Given the description of an element on the screen output the (x, y) to click on. 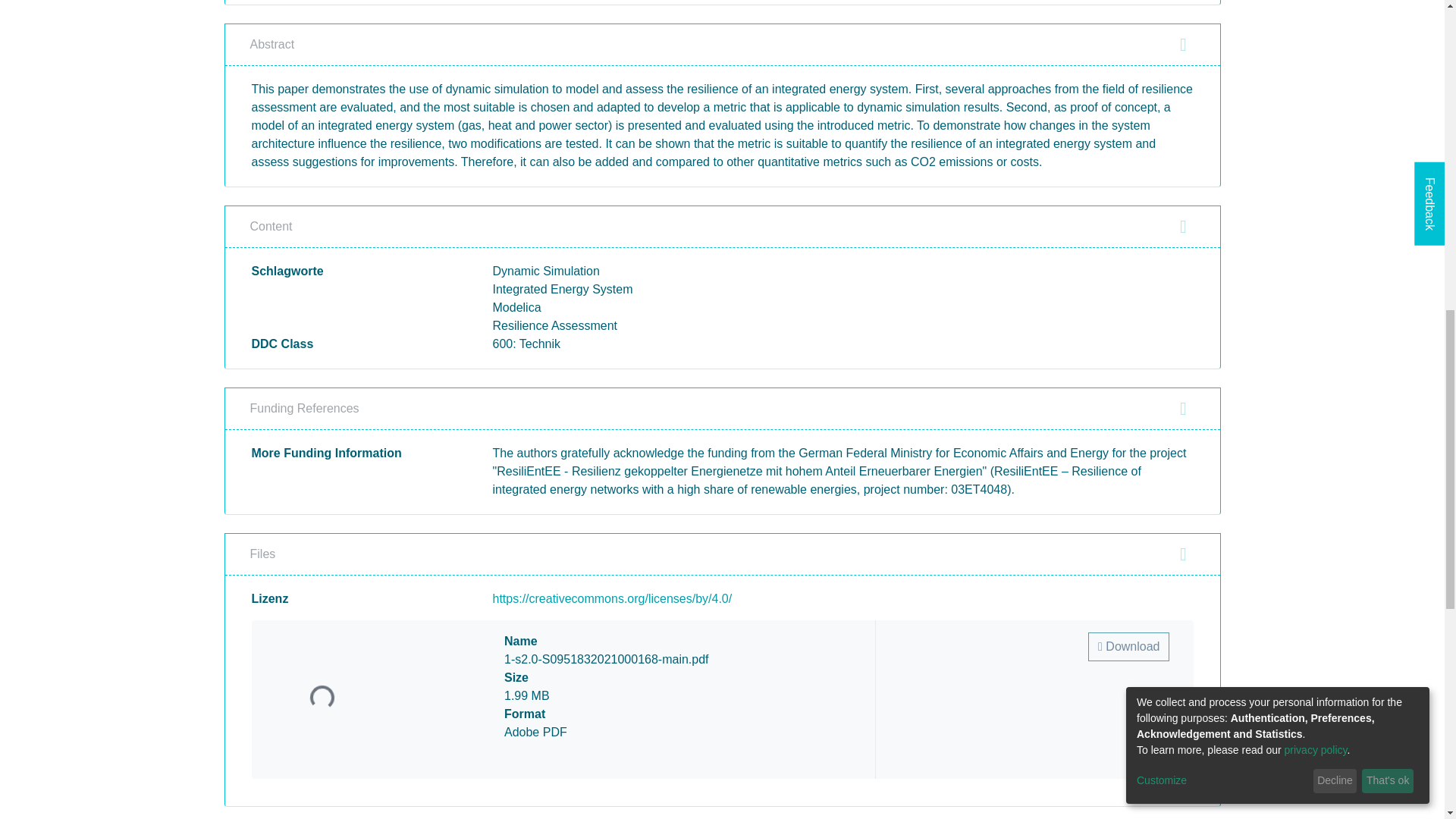
Close section (1183, 554)
Close section (1183, 408)
Close section (1183, 45)
Close section (1183, 226)
